Given the description of an element on the screen output the (x, y) to click on. 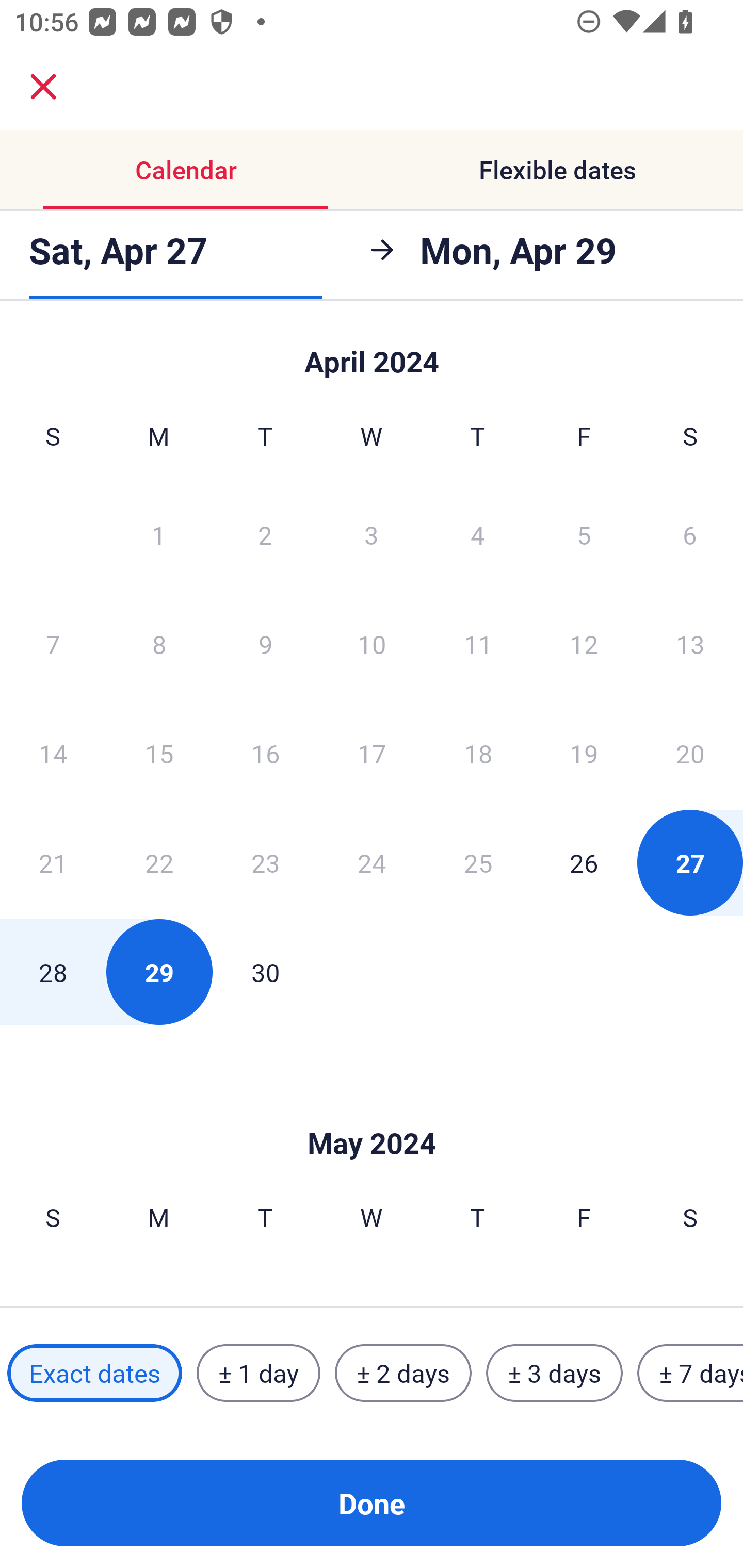
close. (43, 86)
Flexible dates (557, 170)
Skip to Done (371, 352)
1 Monday, April 1, 2024 (158, 534)
2 Tuesday, April 2, 2024 (264, 534)
3 Wednesday, April 3, 2024 (371, 534)
4 Thursday, April 4, 2024 (477, 534)
5 Friday, April 5, 2024 (583, 534)
6 Saturday, April 6, 2024 (689, 534)
7 Sunday, April 7, 2024 (53, 643)
8 Monday, April 8, 2024 (159, 643)
9 Tuesday, April 9, 2024 (265, 643)
10 Wednesday, April 10, 2024 (371, 643)
11 Thursday, April 11, 2024 (477, 643)
12 Friday, April 12, 2024 (584, 643)
13 Saturday, April 13, 2024 (690, 643)
14 Sunday, April 14, 2024 (53, 752)
15 Monday, April 15, 2024 (159, 752)
16 Tuesday, April 16, 2024 (265, 752)
17 Wednesday, April 17, 2024 (371, 752)
18 Thursday, April 18, 2024 (477, 752)
19 Friday, April 19, 2024 (584, 752)
20 Saturday, April 20, 2024 (690, 752)
21 Sunday, April 21, 2024 (53, 862)
22 Monday, April 22, 2024 (159, 862)
23 Tuesday, April 23, 2024 (265, 862)
24 Wednesday, April 24, 2024 (371, 862)
25 Thursday, April 25, 2024 (477, 862)
26 Friday, April 26, 2024 (584, 862)
30 Tuesday, April 30, 2024 (265, 971)
Skip to Done (371, 1112)
Exact dates (94, 1372)
± 1 day (258, 1372)
± 2 days (403, 1372)
± 3 days (553, 1372)
± 7 days (690, 1372)
Done (371, 1502)
